Given the description of an element on the screen output the (x, y) to click on. 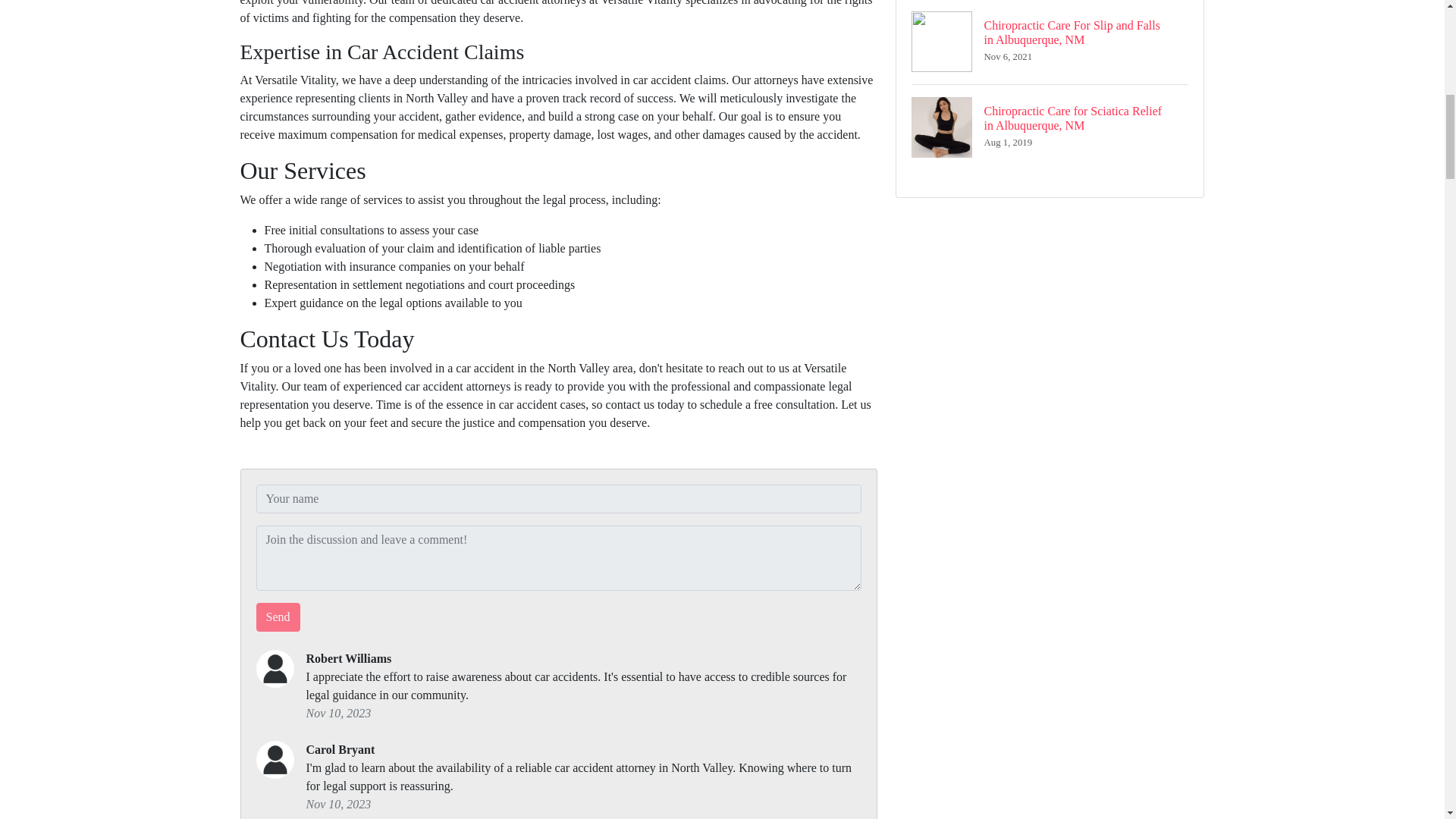
Send (277, 616)
Send (277, 616)
